Given the description of an element on the screen output the (x, y) to click on. 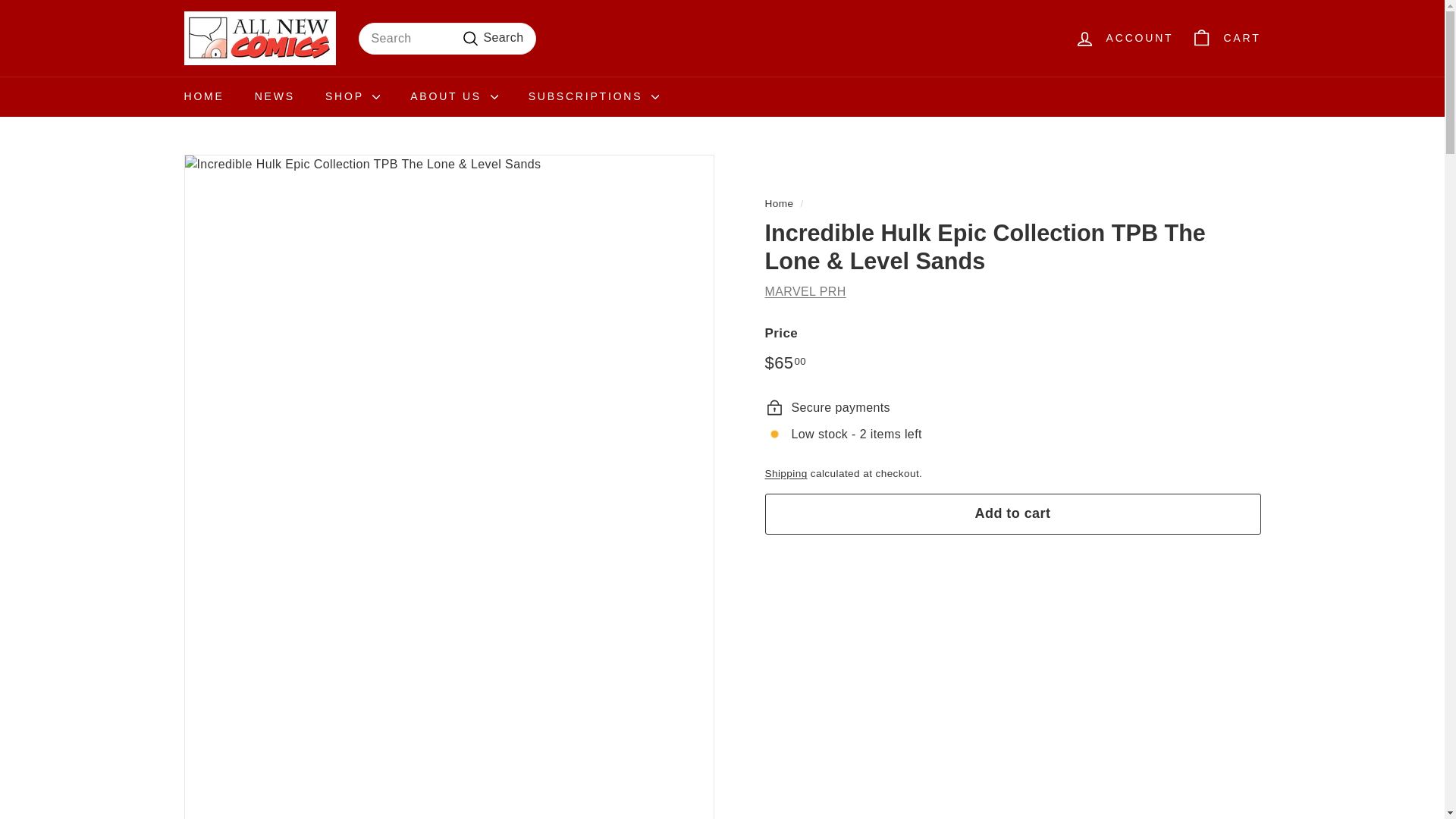
HOME (203, 96)
ACCOUNT (1123, 37)
NEWS (275, 96)
CART (1225, 37)
MARVEL PRH (804, 291)
Back to the frontpage (778, 203)
